Given the description of an element on the screen output the (x, y) to click on. 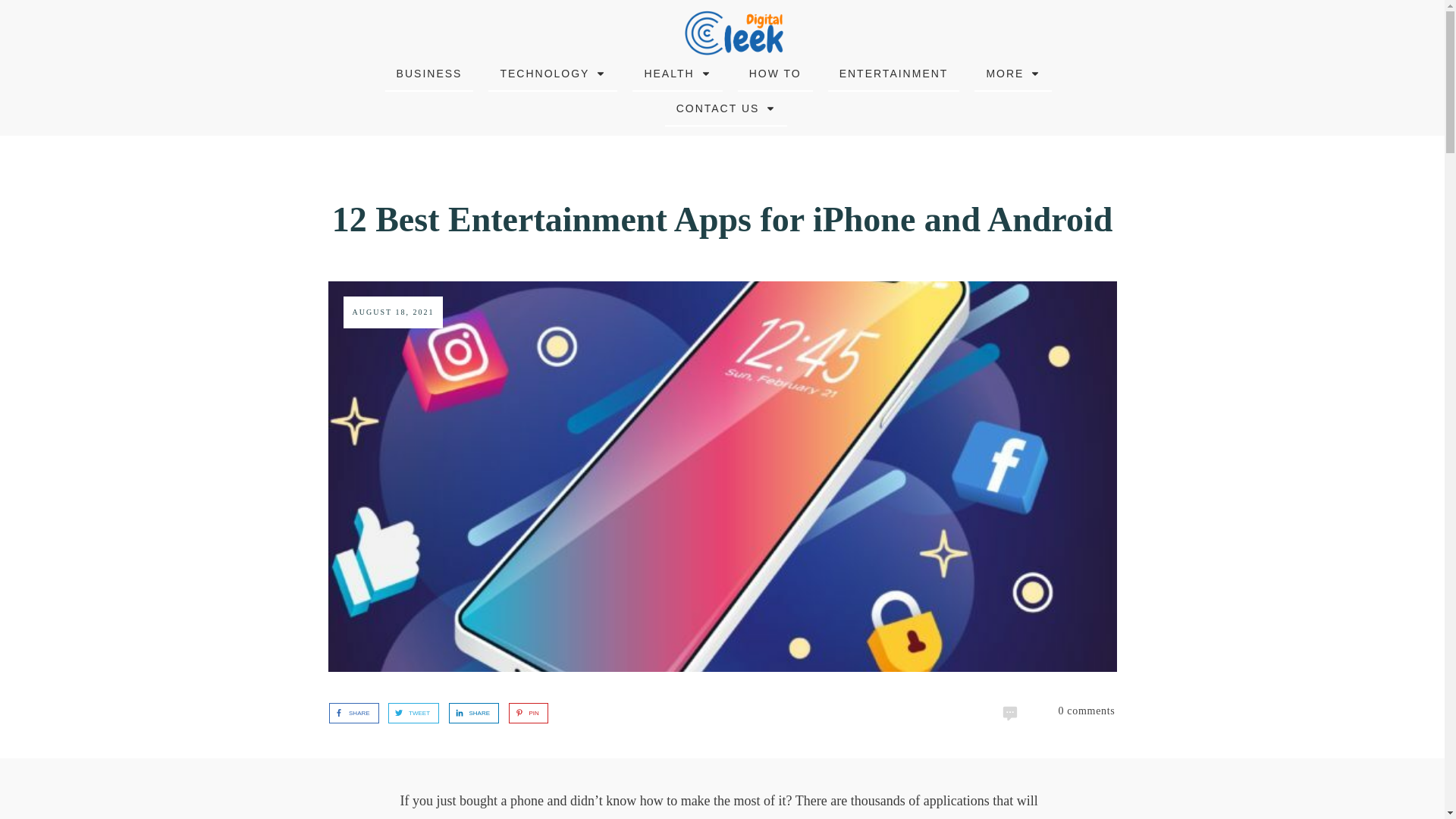
TWEET (408, 713)
BUSINESS (429, 73)
12 Best Entertainment Apps for iPhone and Android (722, 219)
HEALTH (676, 73)
SHARE (349, 713)
MORE (1013, 73)
ENTERTAINMENT (894, 73)
TECHNOLOGY (552, 73)
12 Best Entertainment Apps for iPhone and Android (722, 219)
CONTACT US (726, 107)
